Given the description of an element on the screen output the (x, y) to click on. 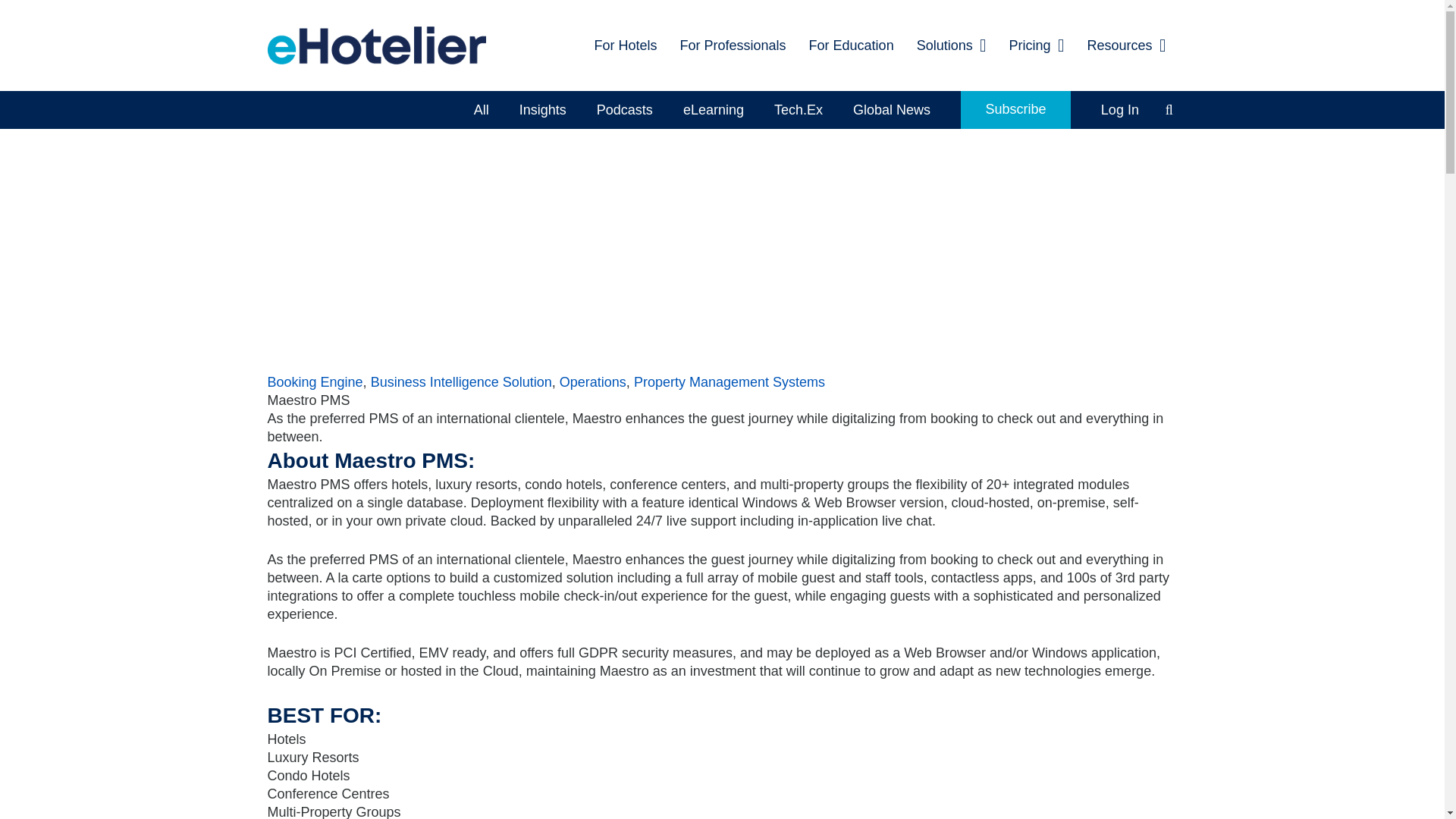
Booking Engine (314, 381)
eLearning (713, 109)
For Hotels (625, 45)
Insights (541, 109)
Resources (1126, 45)
Log In (1120, 109)
Subscribe (1015, 109)
Tech.Ex (798, 109)
For Education (851, 45)
All (480, 109)
For Professionals (732, 45)
Global News (891, 109)
Solutions (951, 45)
Podcasts (624, 109)
